Given the description of an element on the screen output the (x, y) to click on. 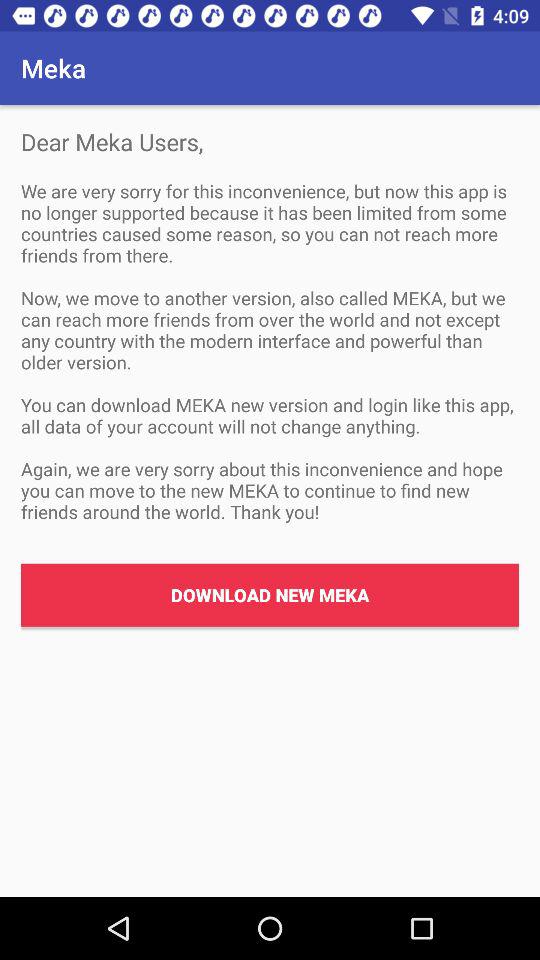
swipe to the download new meka icon (270, 594)
